Given the description of an element on the screen output the (x, y) to click on. 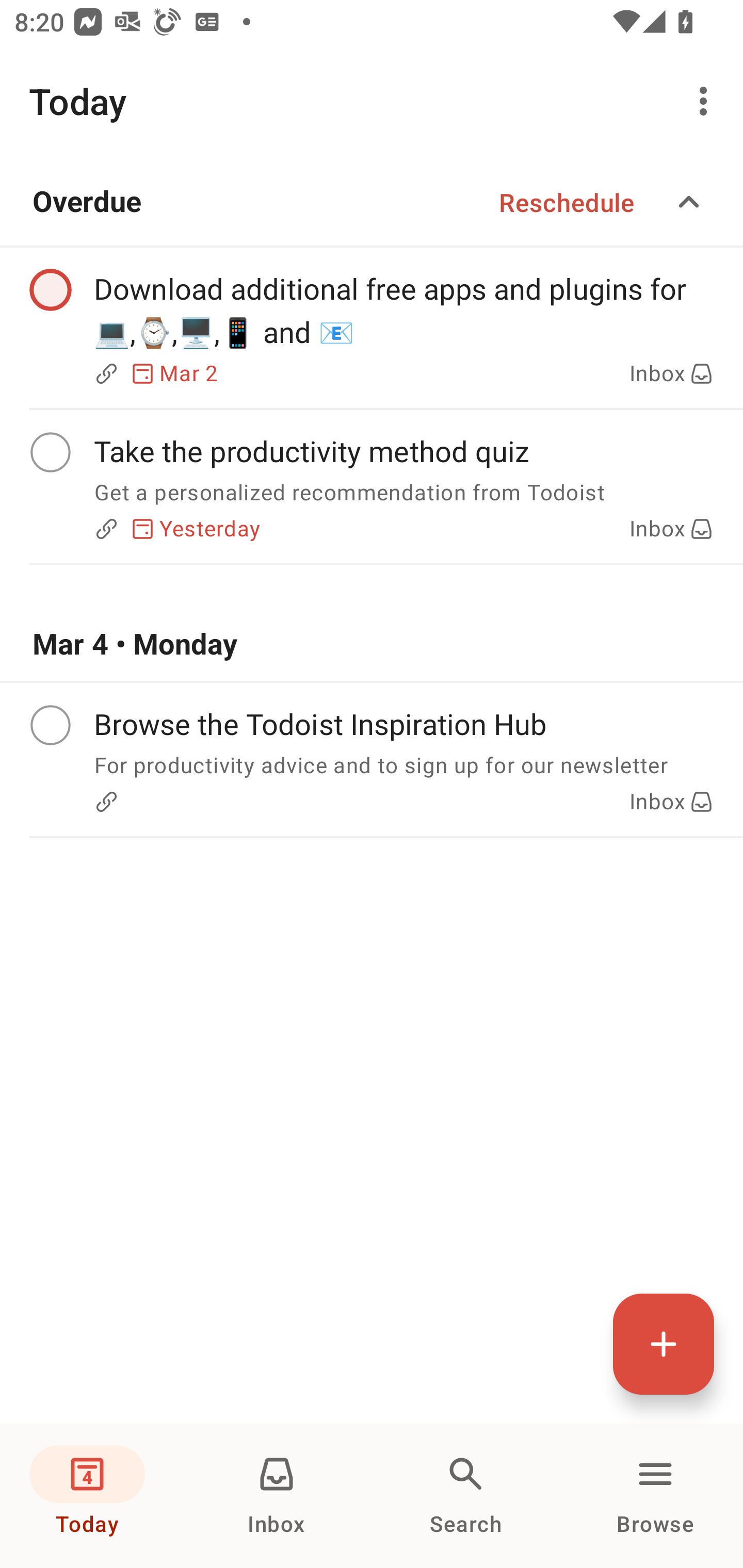
Today More options (371, 100)
More options (706, 101)
Overdue Reschedule Expand/collapse (371, 202)
Reschedule (566, 202)
Complete (50, 289)
Complete (50, 452)
Mar 4 • Monday (371, 644)
Complete (50, 725)
Quick add (663, 1343)
Inbox (276, 1495)
Search (465, 1495)
Browse (655, 1495)
